Given the description of an element on the screen output the (x, y) to click on. 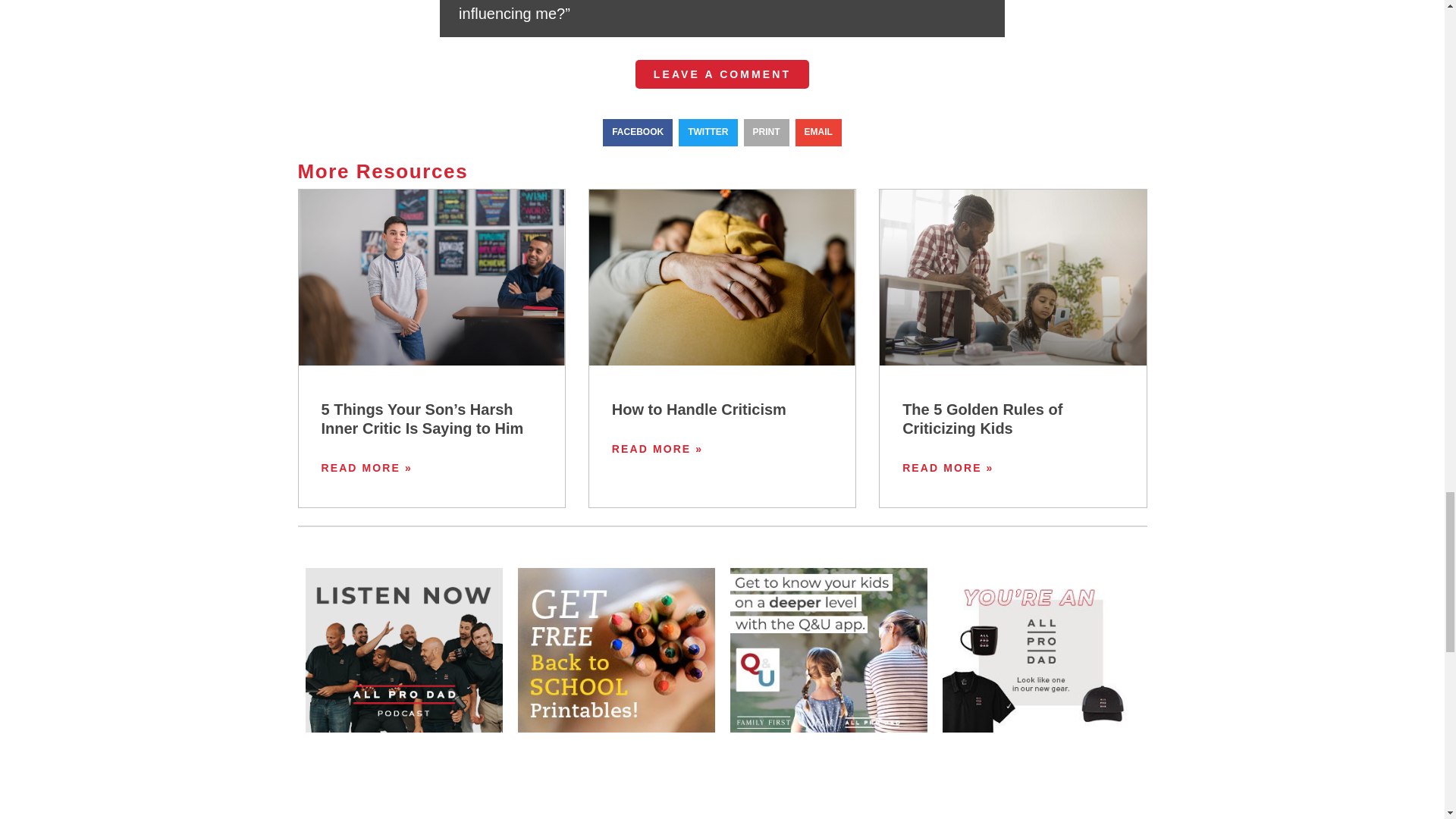
LEAVE A COMMENT (721, 73)
The 5 Golden Rules of Criticizing Kids (982, 418)
How to Handle Criticism (698, 409)
